Given the description of an element on the screen output the (x, y) to click on. 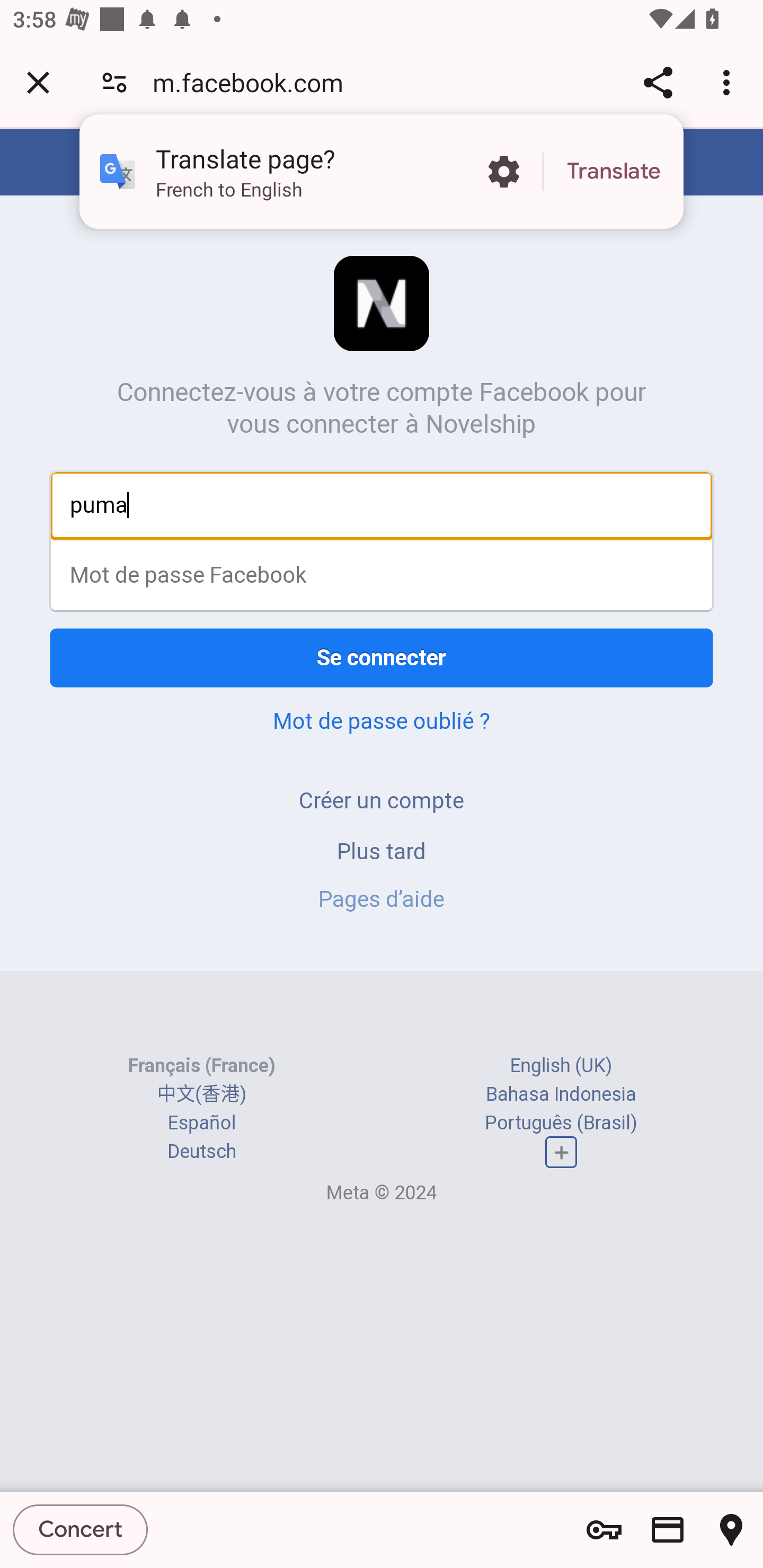
Close tab (38, 82)
Share (657, 82)
Customize and control Google Chrome (729, 82)
Connection is secure (114, 81)
m.facebook.com (254, 81)
Translate (613, 171)
More options in the Translate page? (503, 171)
puma (381, 505)
Se connecter (381, 657)
Mot de passe oublié ? (381, 720)
Créer un compte (381, 800)
Plus tard (381, 850)
Pages d’aide (381, 898)
English (UK) (560, 1065)
中文(香港) (201, 1093)
Bahasa Indonesia (560, 1093)
Español (201, 1122)
Português (Brasil) (560, 1122)
Liste complète des langues (560, 1152)
Deutsch (201, 1151)
Concert (80, 1529)
Show saved passwords and password options (603, 1530)
Show saved payment methods (667, 1530)
Show saved addresses (731, 1530)
